Given the description of an element on the screen output the (x, y) to click on. 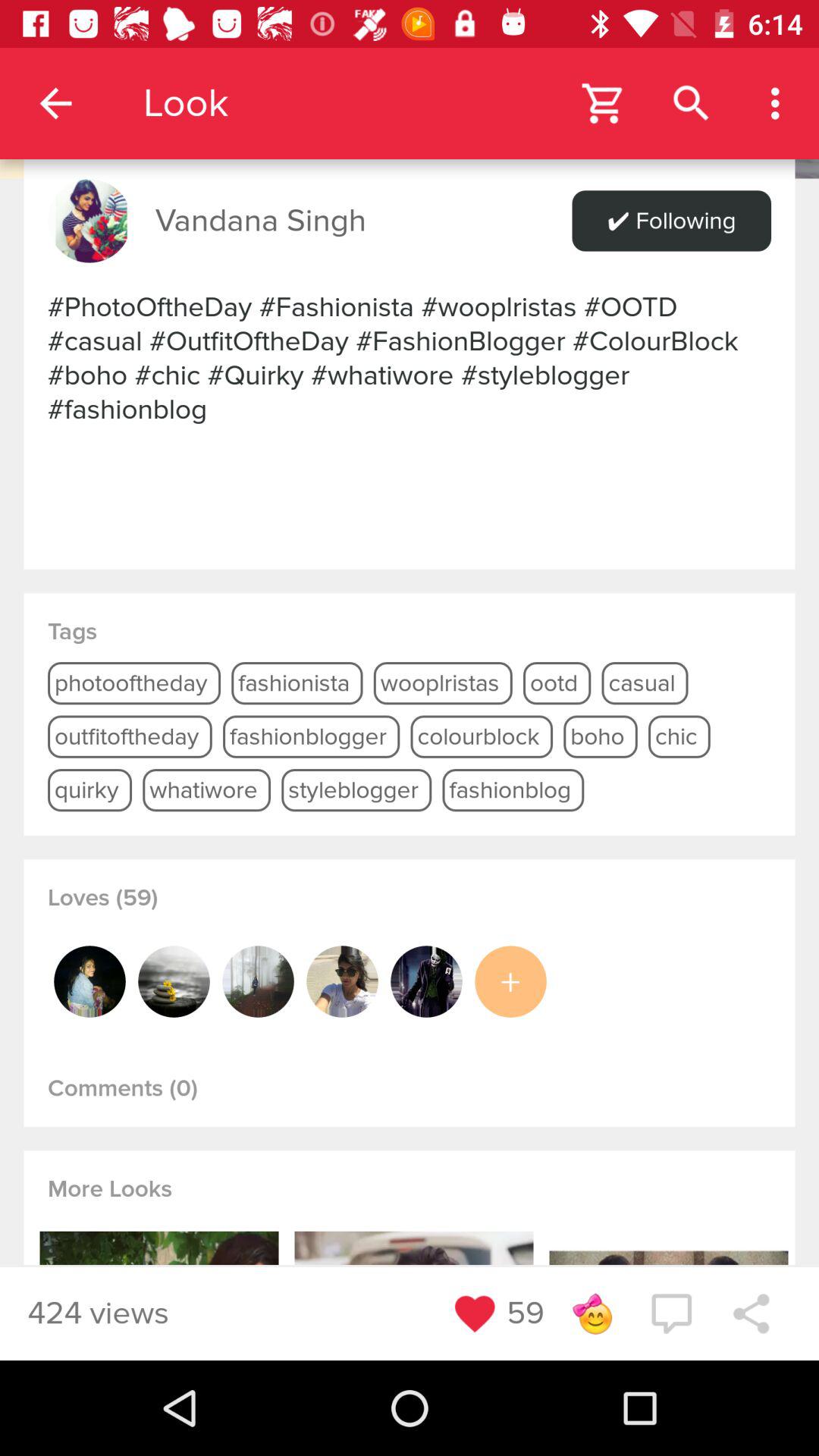
toggle followers (173, 981)
